Given the description of an element on the screen output the (x, y) to click on. 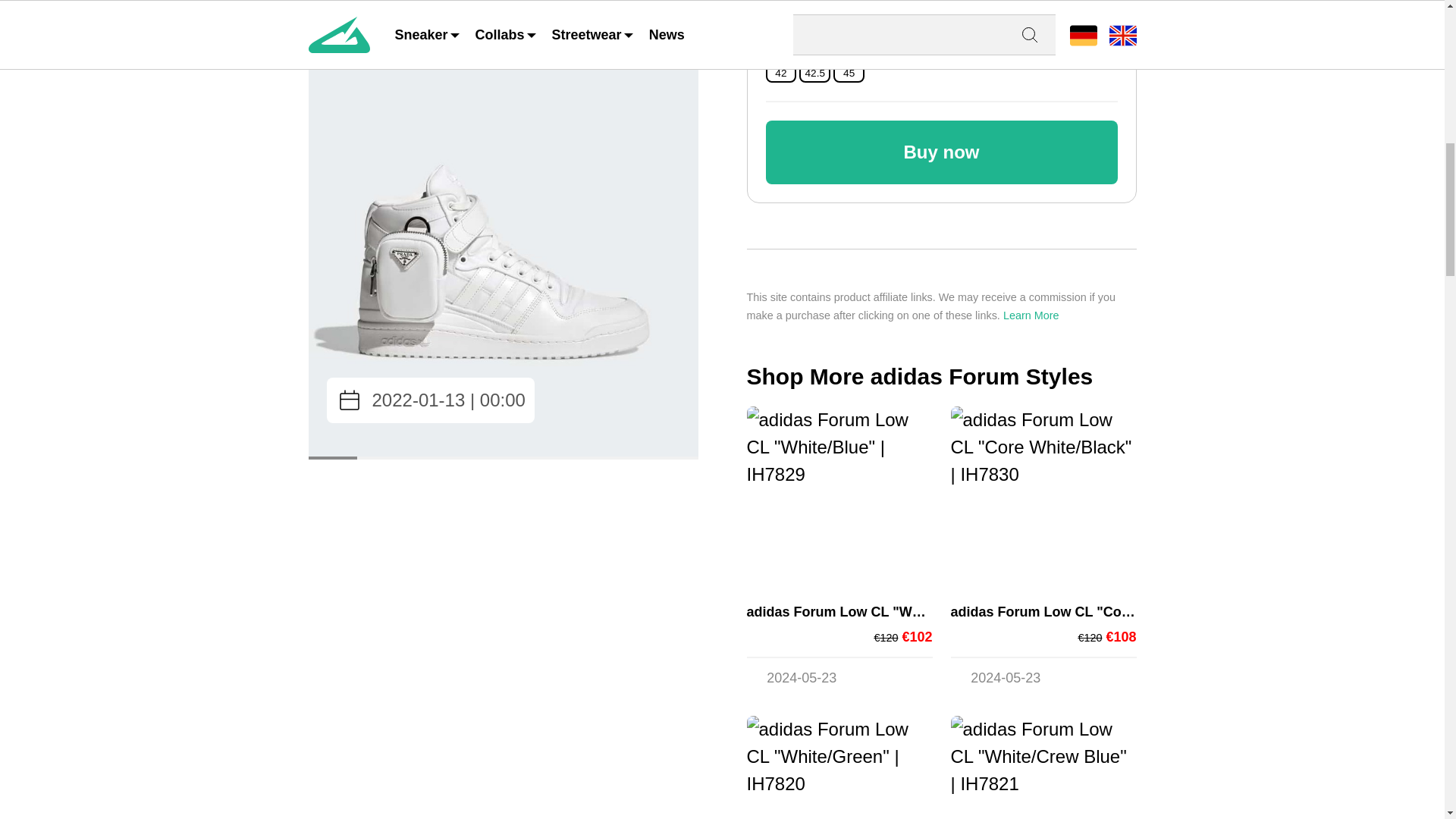
42 (780, 72)
Learn More (1031, 315)
42.5 (815, 72)
Buy now (941, 152)
45 (848, 72)
